Given the description of an element on the screen output the (x, y) to click on. 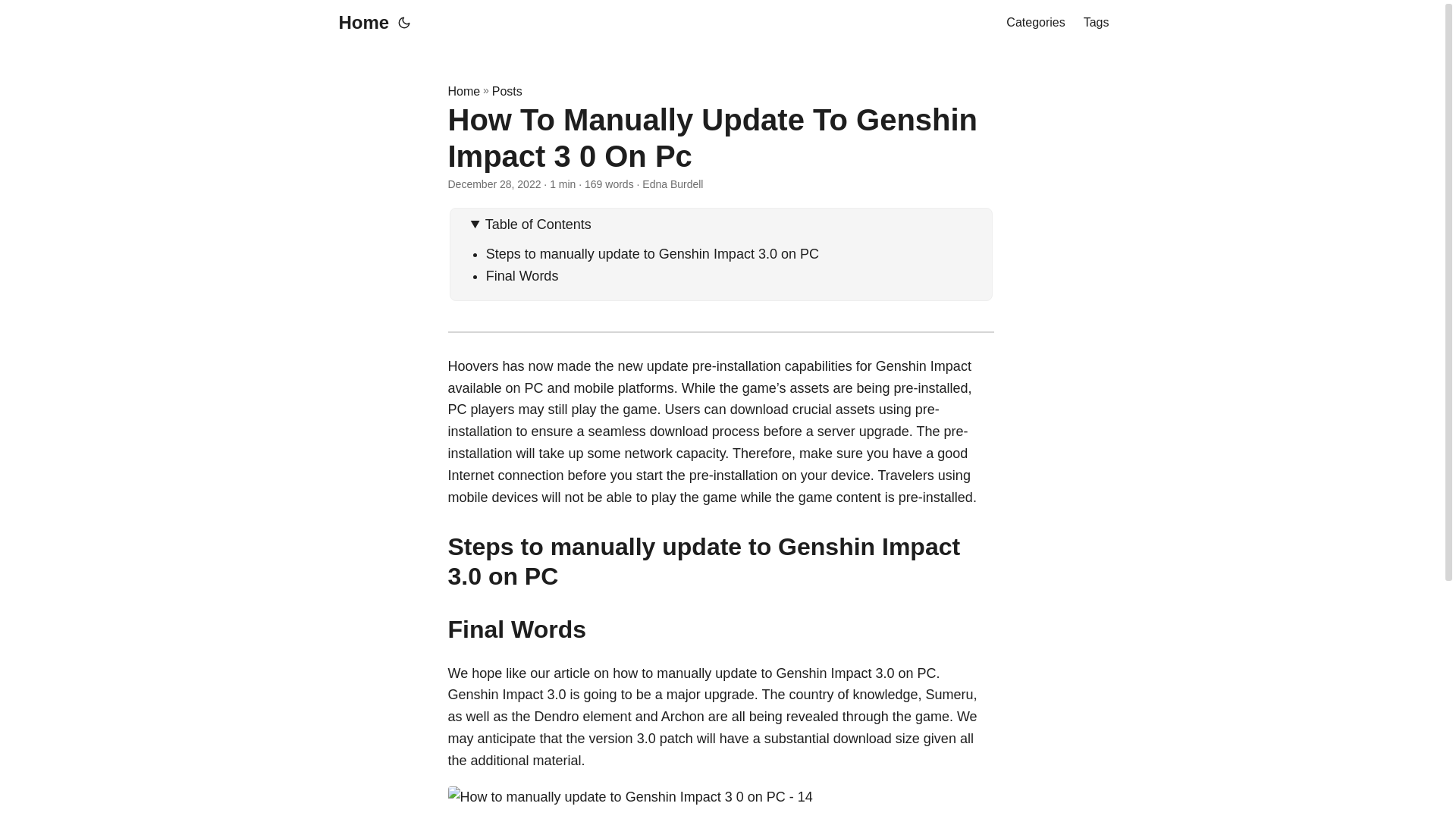
Posts (507, 91)
Steps to manually update to Genshin Impact 3.0 on PC (652, 253)
Categories (1035, 22)
Final Words (522, 275)
Home (463, 91)
Home (359, 22)
Categories (1035, 22)
